Given the description of an element on the screen output the (x, y) to click on. 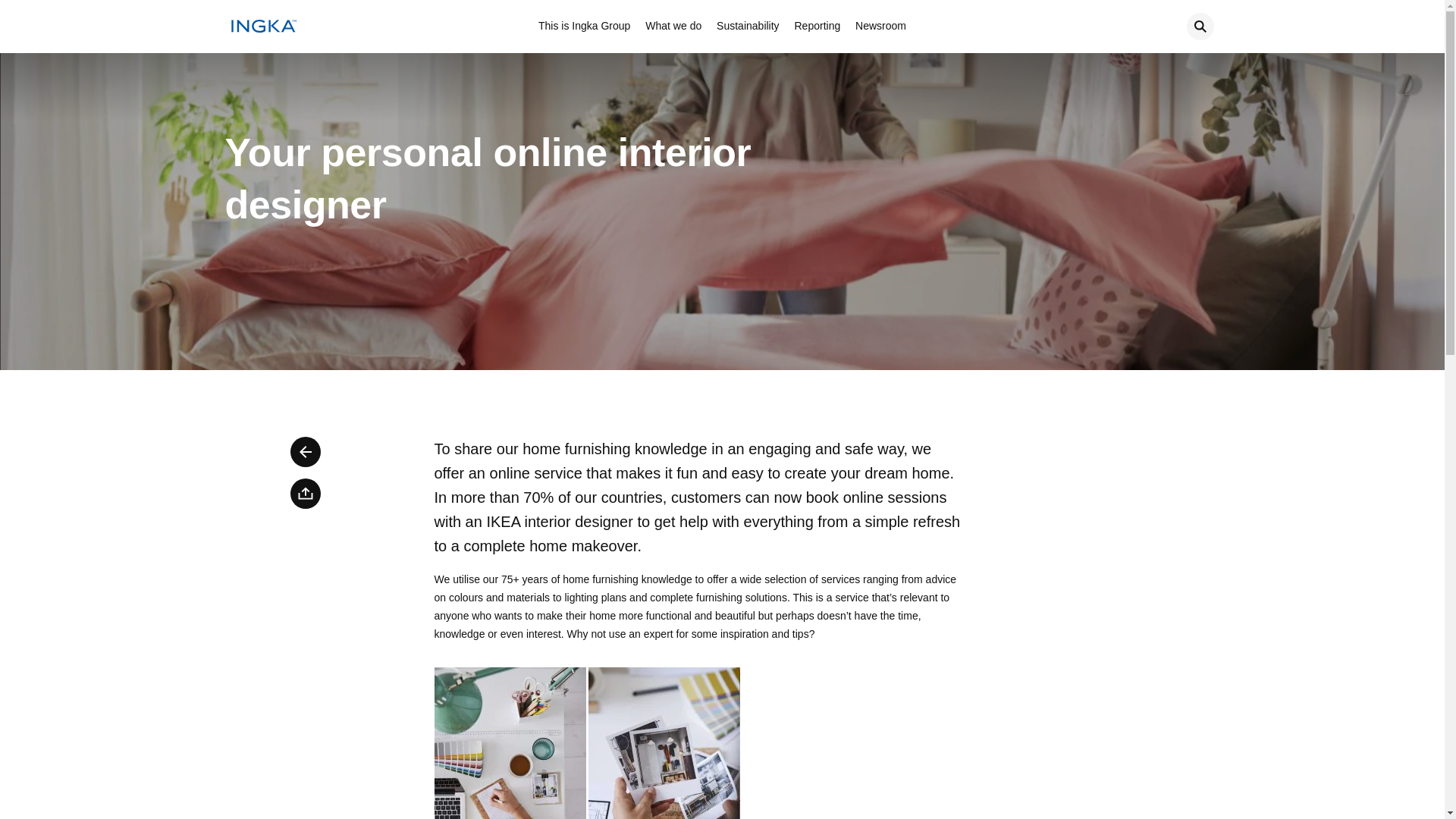
Share article (304, 493)
Sustainability (748, 26)
Newsroom (880, 26)
This is Ingka Group (584, 26)
What we do (673, 26)
Go back (304, 451)
Reporting (818, 26)
